Given the description of an element on the screen output the (x, y) to click on. 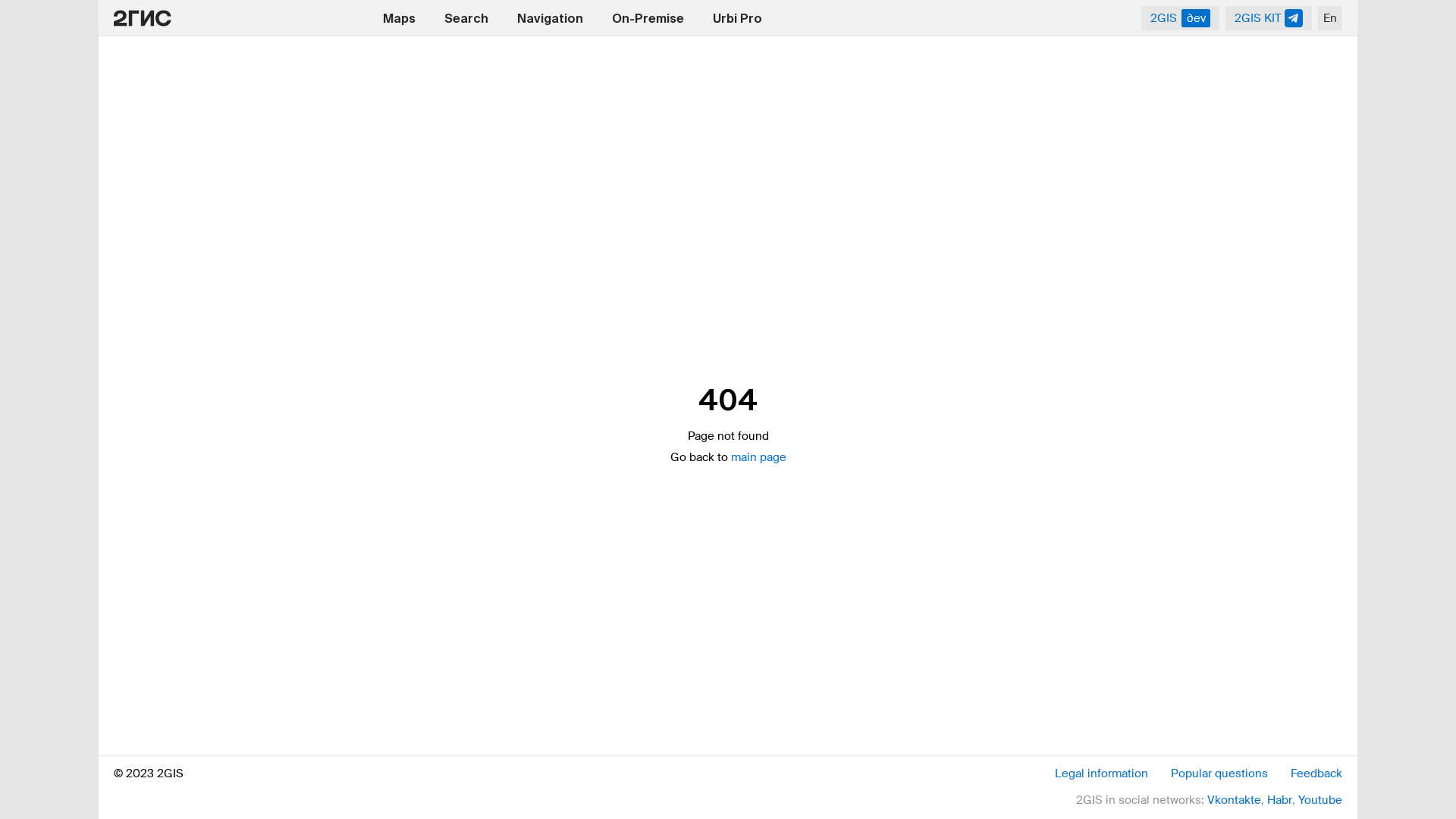
main page Element type: text (758, 456)
Habr Element type: text (1279, 799)
2GIS KIT Element type: text (1268, 18)
Youtube Element type: text (1320, 799)
Vkontakte Element type: text (1234, 799)
Popular questions Element type: text (1218, 773)
Legal information Element type: text (1101, 773)
Feedback Element type: text (1316, 773)
